Given the description of an element on the screen output the (x, y) to click on. 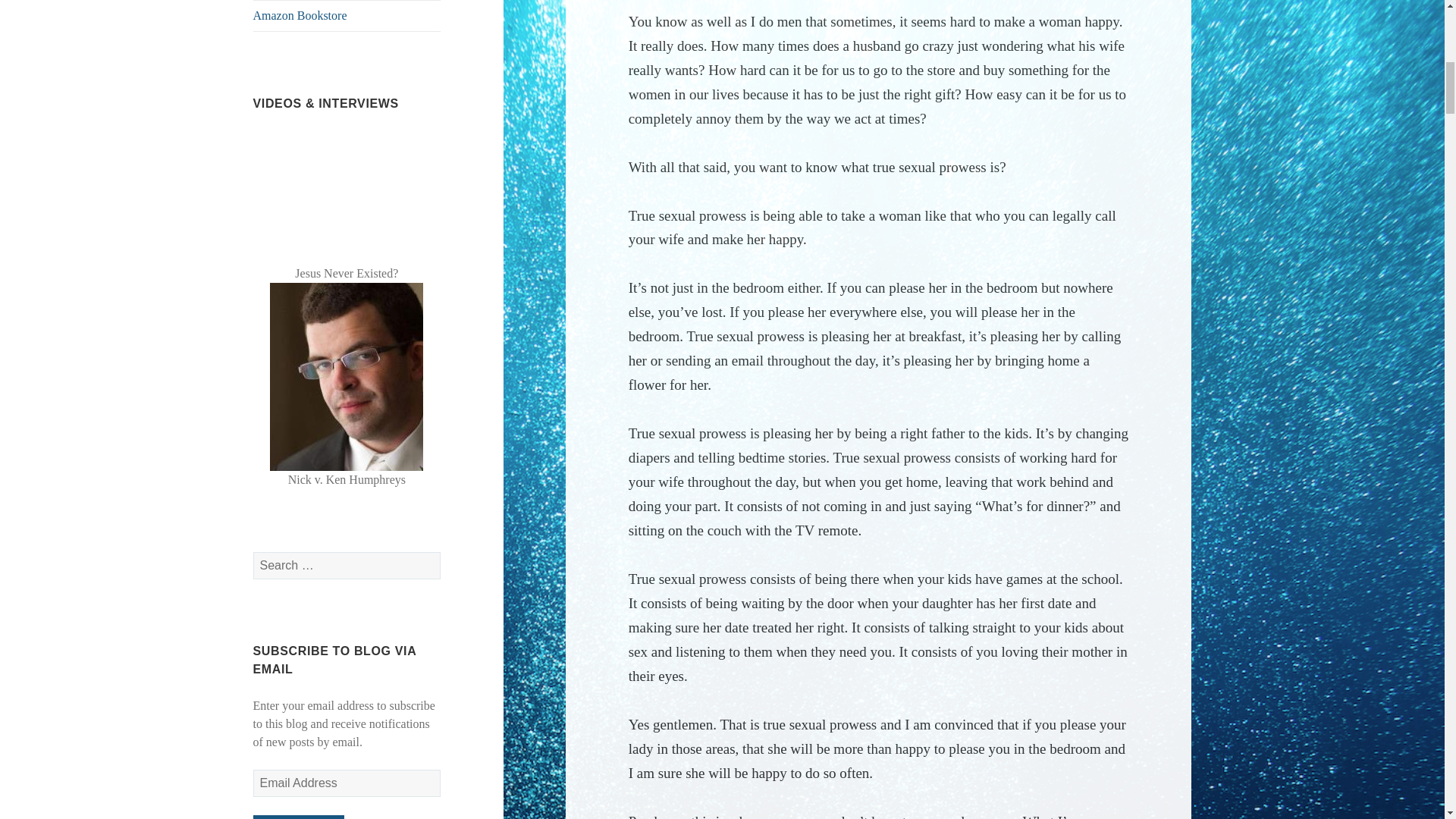
Amazon Bookstore (347, 15)
SUBSCRIBE (299, 816)
